Given the description of an element on the screen output the (x, y) to click on. 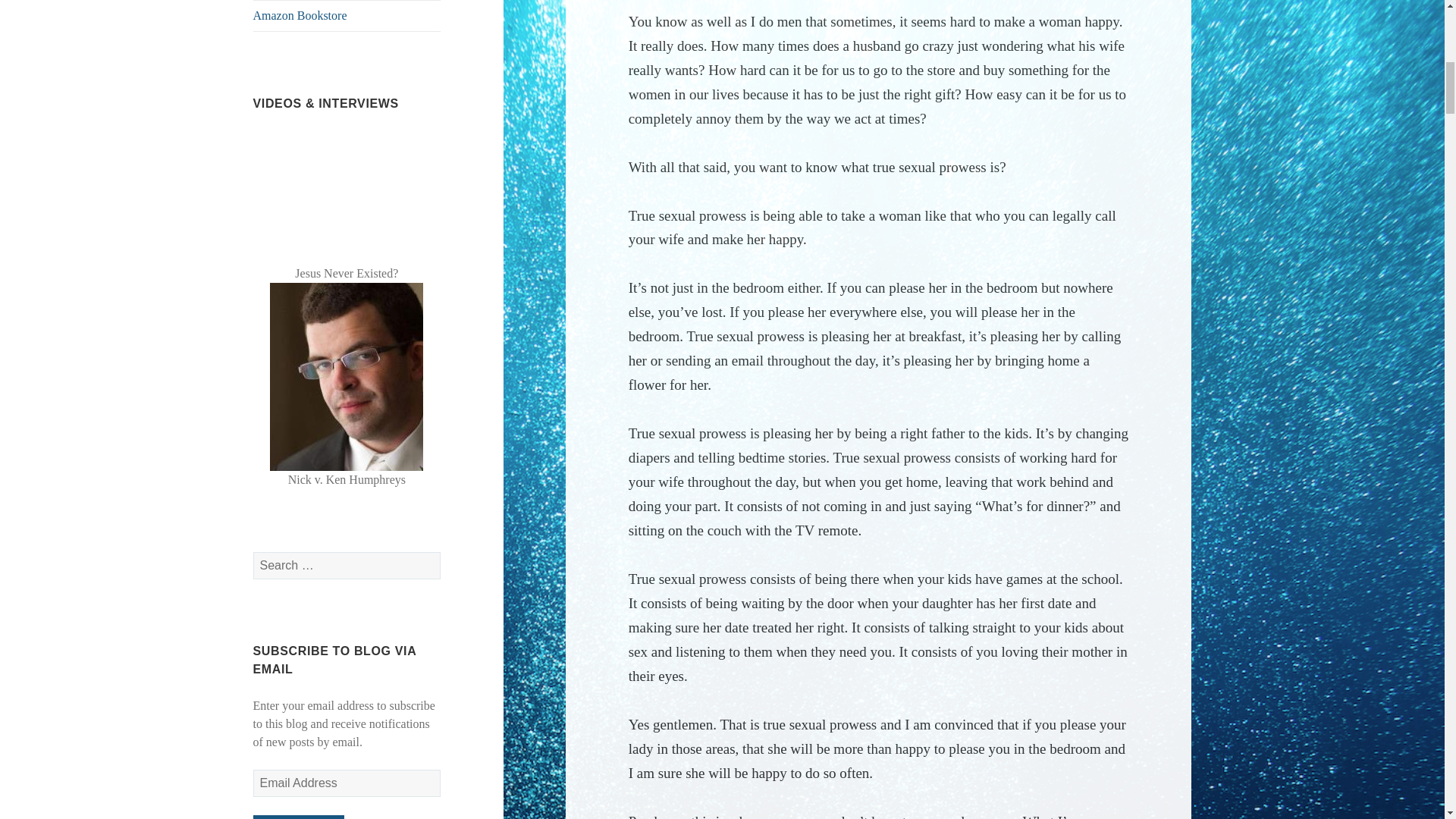
Amazon Bookstore (347, 15)
SUBSCRIBE (299, 816)
